Given the description of an element on the screen output the (x, y) to click on. 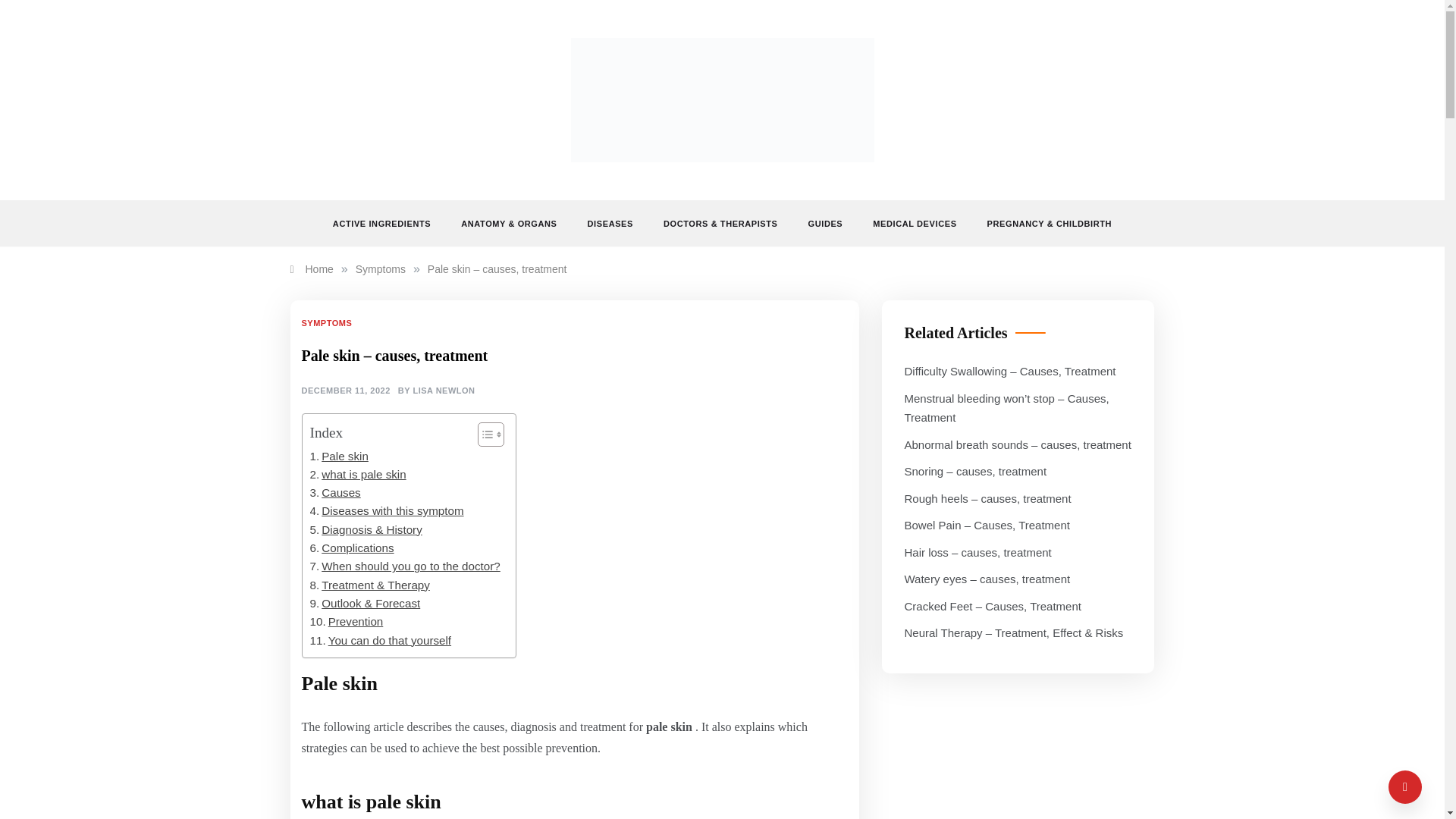
Pale skin (338, 456)
You can do that yourself (379, 640)
Diseases with this symptom (385, 511)
You can do that yourself (379, 640)
DISEASES (609, 223)
what is pale skin (357, 475)
ACTIVE INGREDIENTS (389, 223)
GUIDES (826, 223)
Complications (350, 547)
Causes (333, 493)
Complications (350, 547)
Prevention (345, 621)
DECEMBER 11, 2022 (345, 390)
MEDICAL DEVICES (914, 223)
When should you go to the doctor? (403, 566)
